Given the description of an element on the screen output the (x, y) to click on. 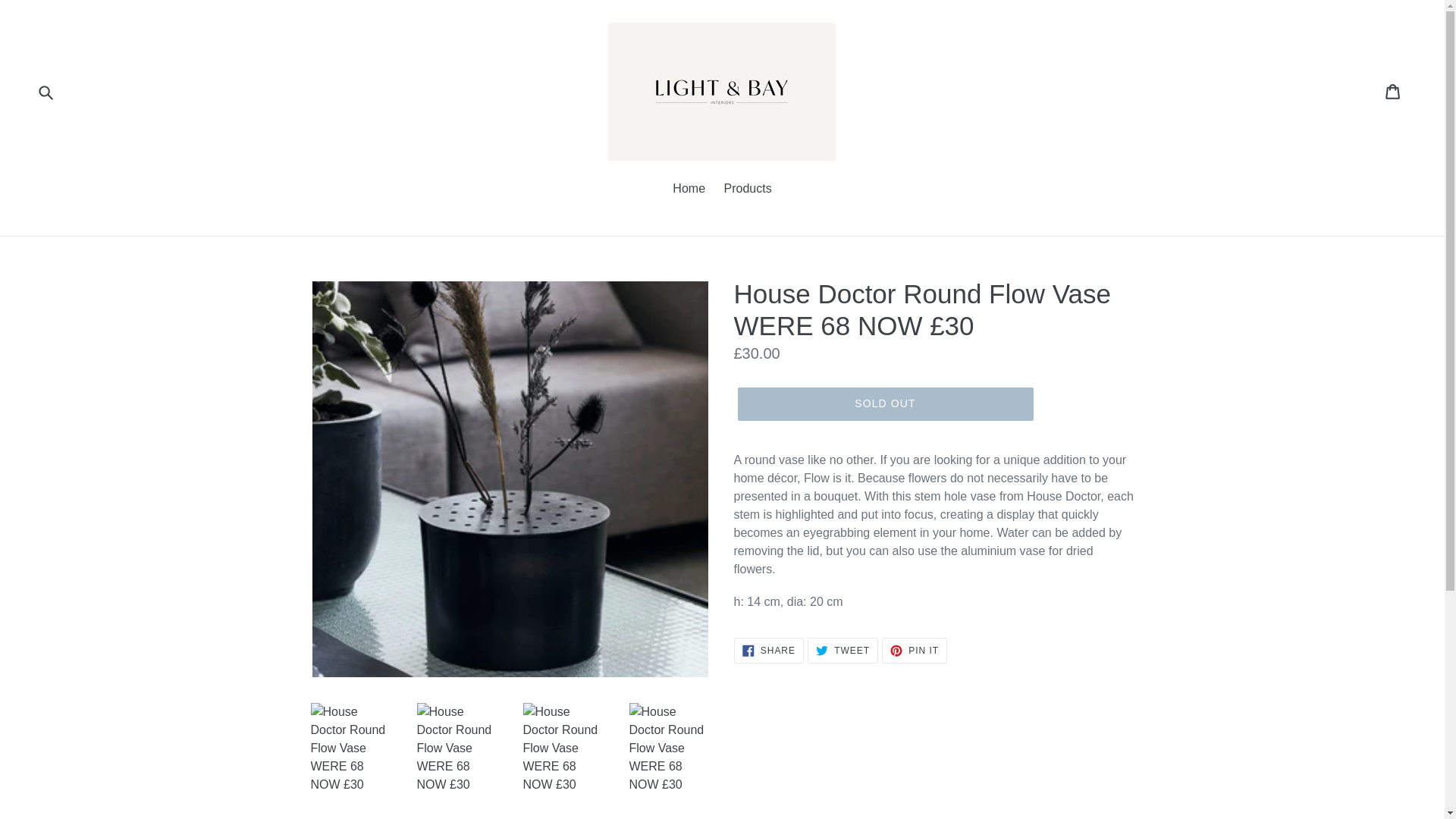
Cart (768, 650)
Products (1393, 91)
Home (914, 650)
SOLD OUT (747, 189)
Submit (689, 189)
